Given the description of an element on the screen output the (x, y) to click on. 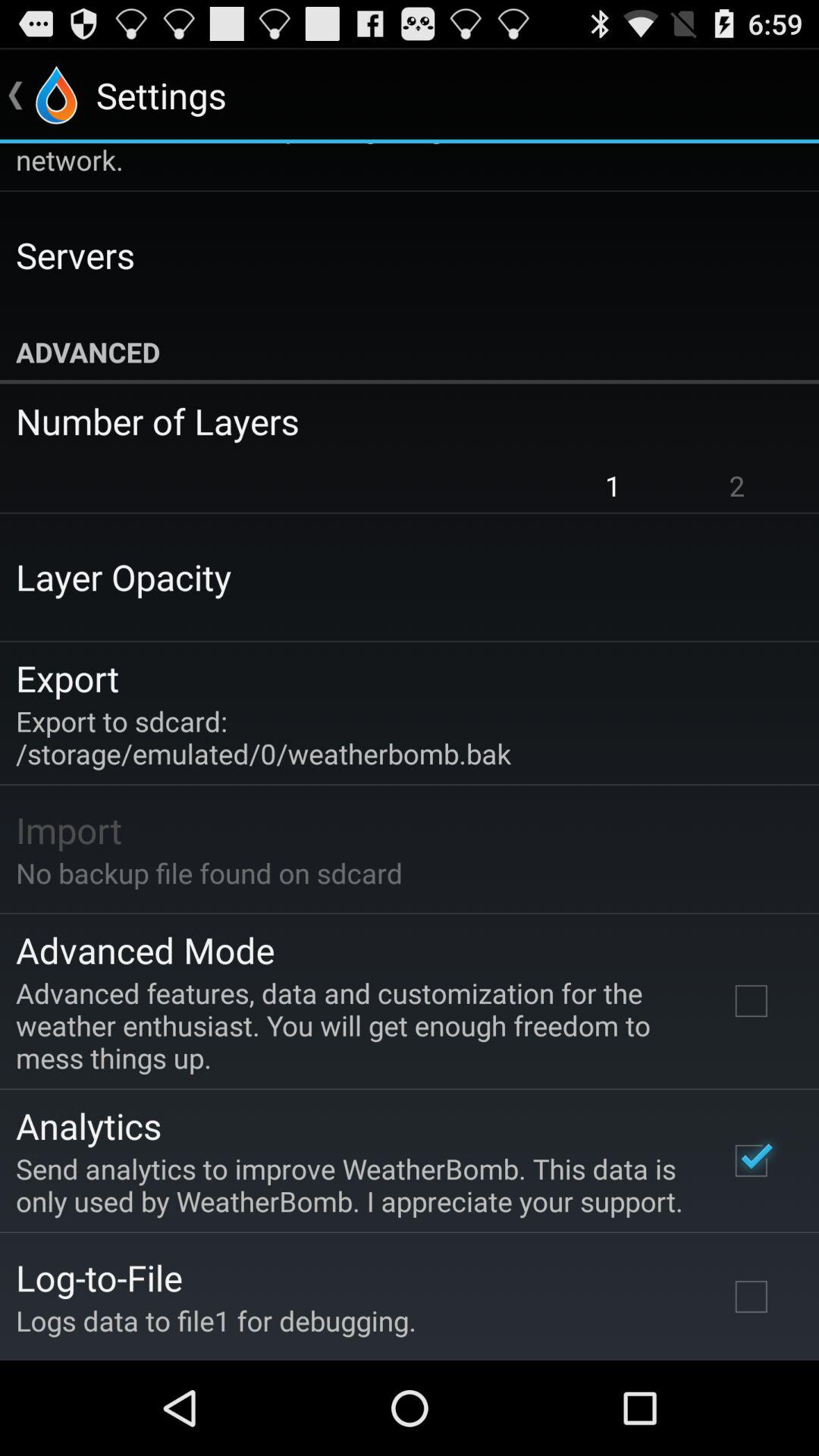
turn off the app above logs data to (98, 1277)
